Given the description of an element on the screen output the (x, y) to click on. 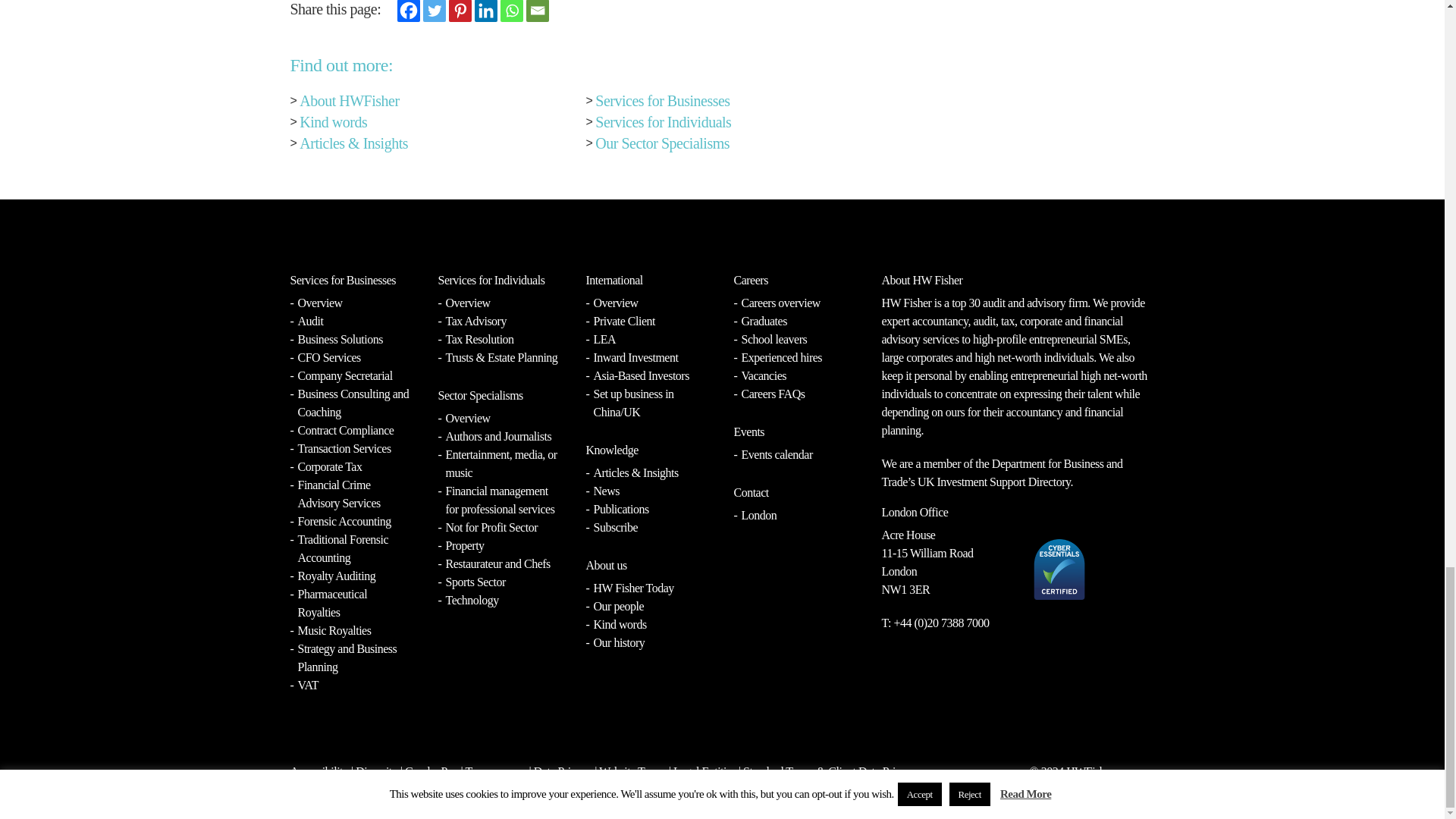
Kind words (332, 121)
Twitter (434, 11)
Facebook (408, 11)
About HWFisher (348, 100)
